Given the description of an element on the screen output the (x, y) to click on. 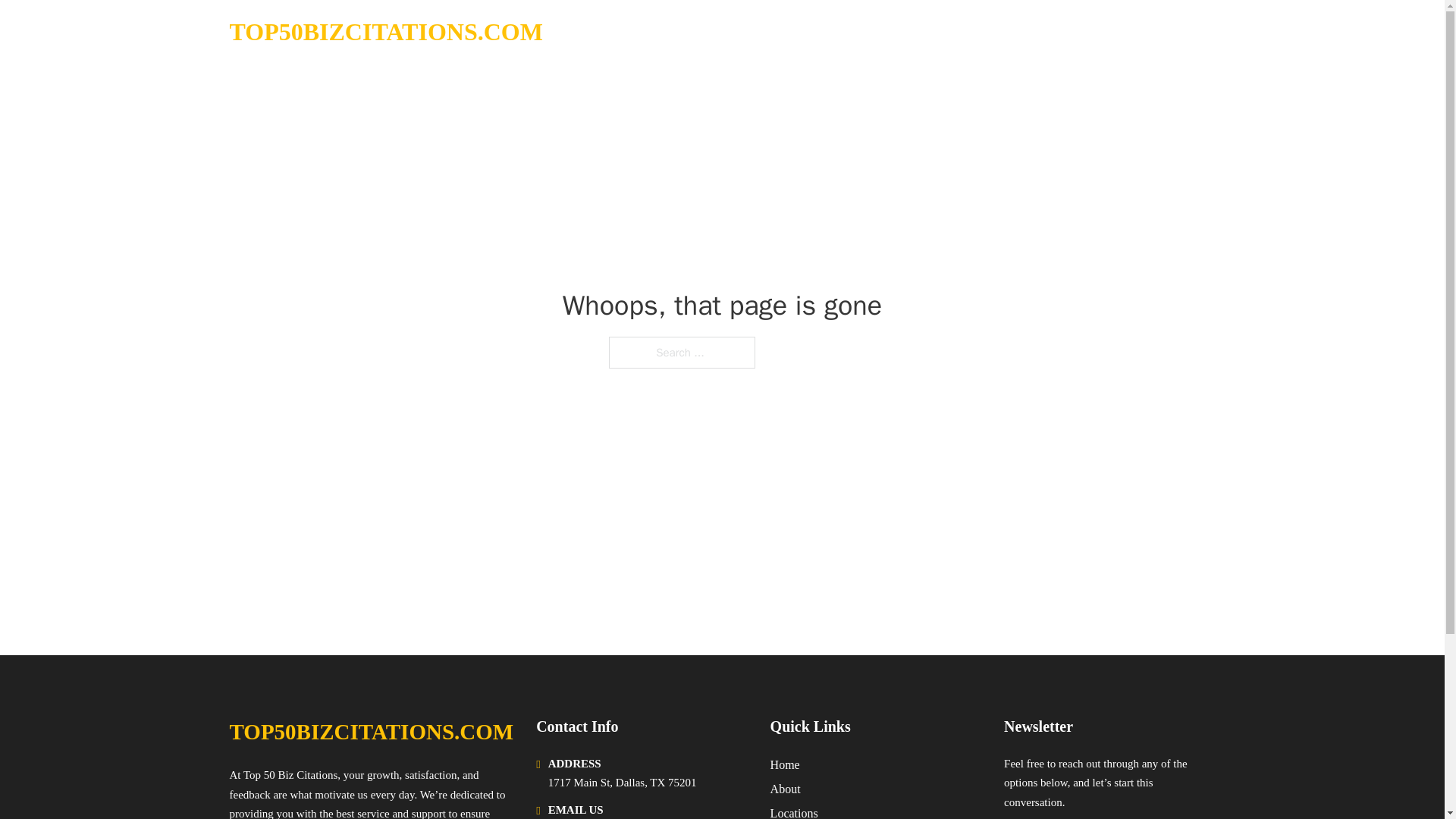
Home (784, 764)
Locations (794, 811)
TOP50BIZCITATIONS.COM (370, 732)
HOME (1025, 31)
About (785, 788)
TOP50BIZCITATIONS.COM (384, 31)
LOCATIONS (1098, 31)
